Given the description of an element on the screen output the (x, y) to click on. 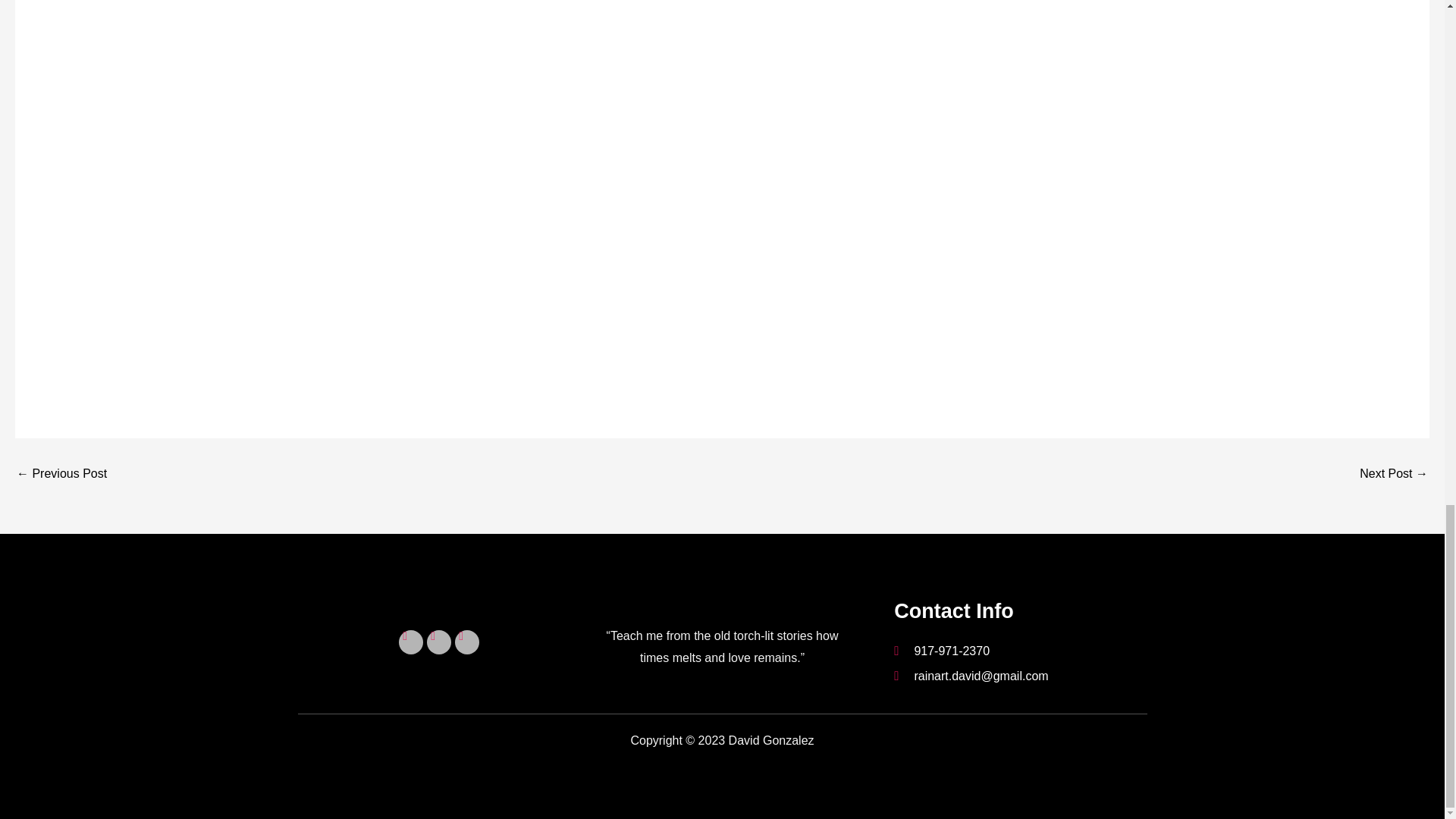
917-971-2370 (1020, 650)
Instagram (410, 641)
Entanglement (1393, 473)
Rick Rubin's "The Creative Act" (61, 473)
Facebook (438, 641)
Twitter (466, 641)
